Given the description of an element on the screen output the (x, y) to click on. 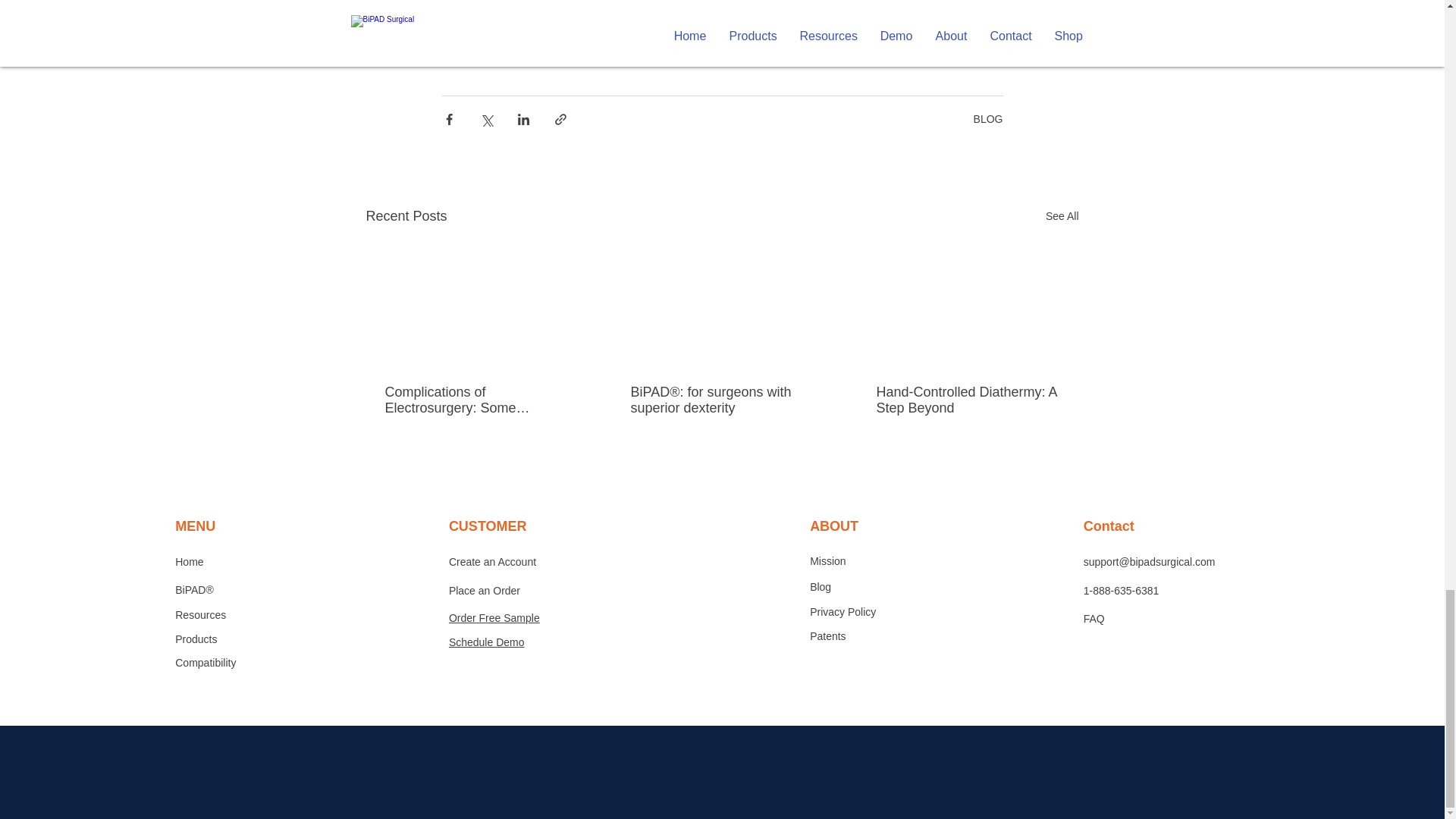
Complications of Electrosurgery: Some Shocking Injuries! (476, 400)
Make the switch today (508, 26)
BLOG (988, 119)
Hand-Controlled Diathermy: A Step Beyond (967, 400)
Resources (199, 614)
Compatibility (204, 662)
Place an Order (483, 590)
Home (188, 562)
See All (1061, 216)
Products (195, 639)
